Given the description of an element on the screen output the (x, y) to click on. 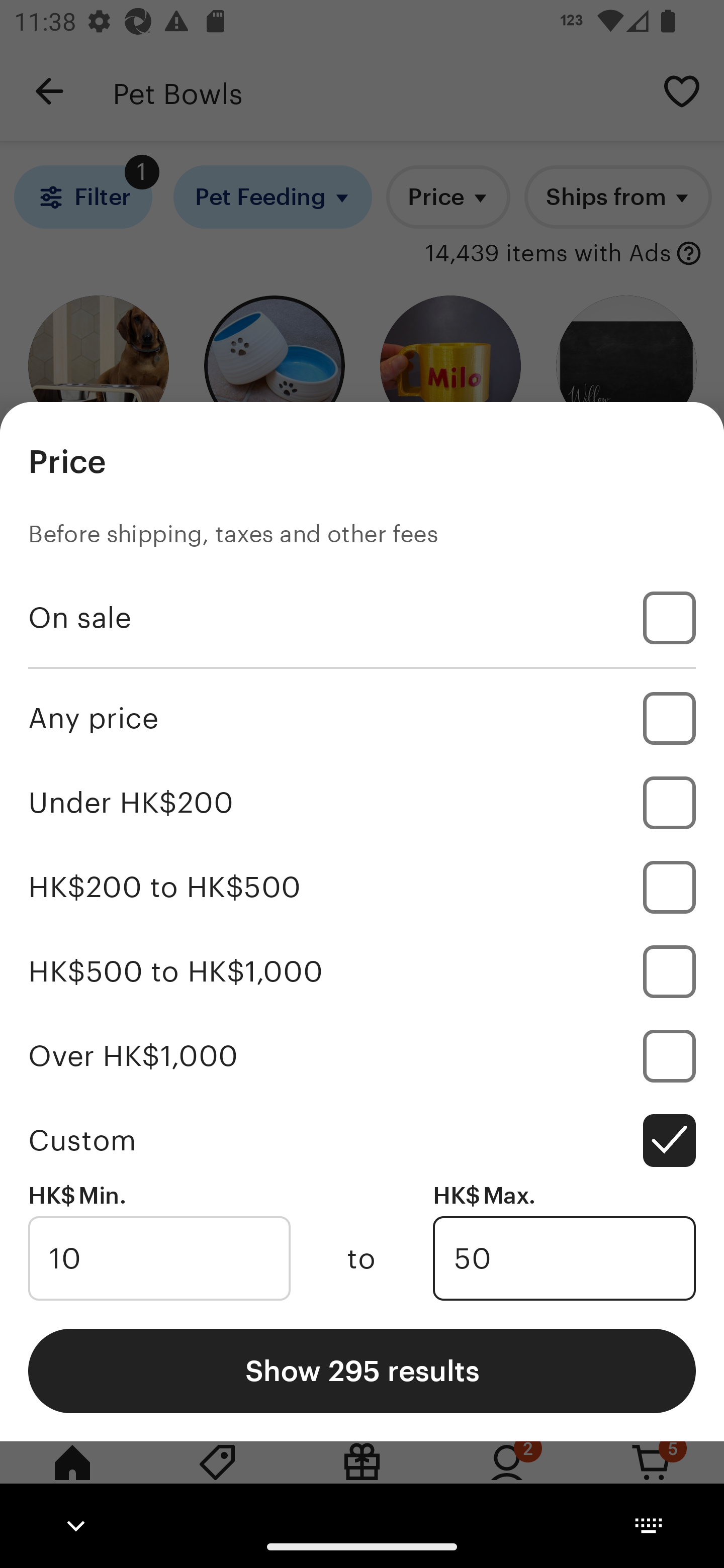
On sale (362, 617)
Any price (362, 717)
Under HK$200 (362, 802)
HK$200 to HK$500 (362, 887)
HK$500 to HK$1,000 (362, 970)
Over HK$1,000 (362, 1054)
Custom (362, 1139)
10 (159, 1257)
50 (563, 1257)
Show 295 results (361, 1370)
